Given the description of an element on the screen output the (x, y) to click on. 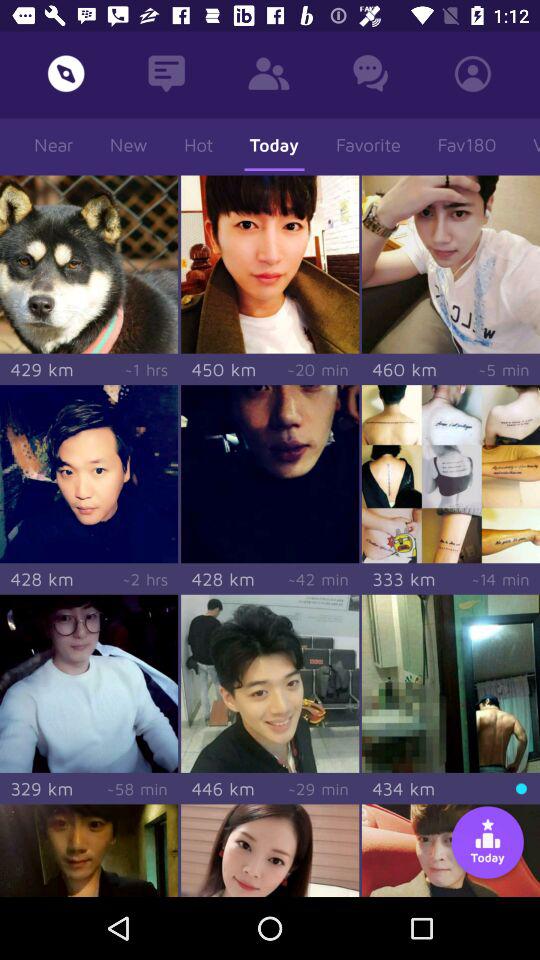
click on the third image in the first row (450, 264)
click on the image which is last (450, 849)
click on the image which is 333 km  14 min (450, 473)
